Given the description of an element on the screen output the (x, y) to click on. 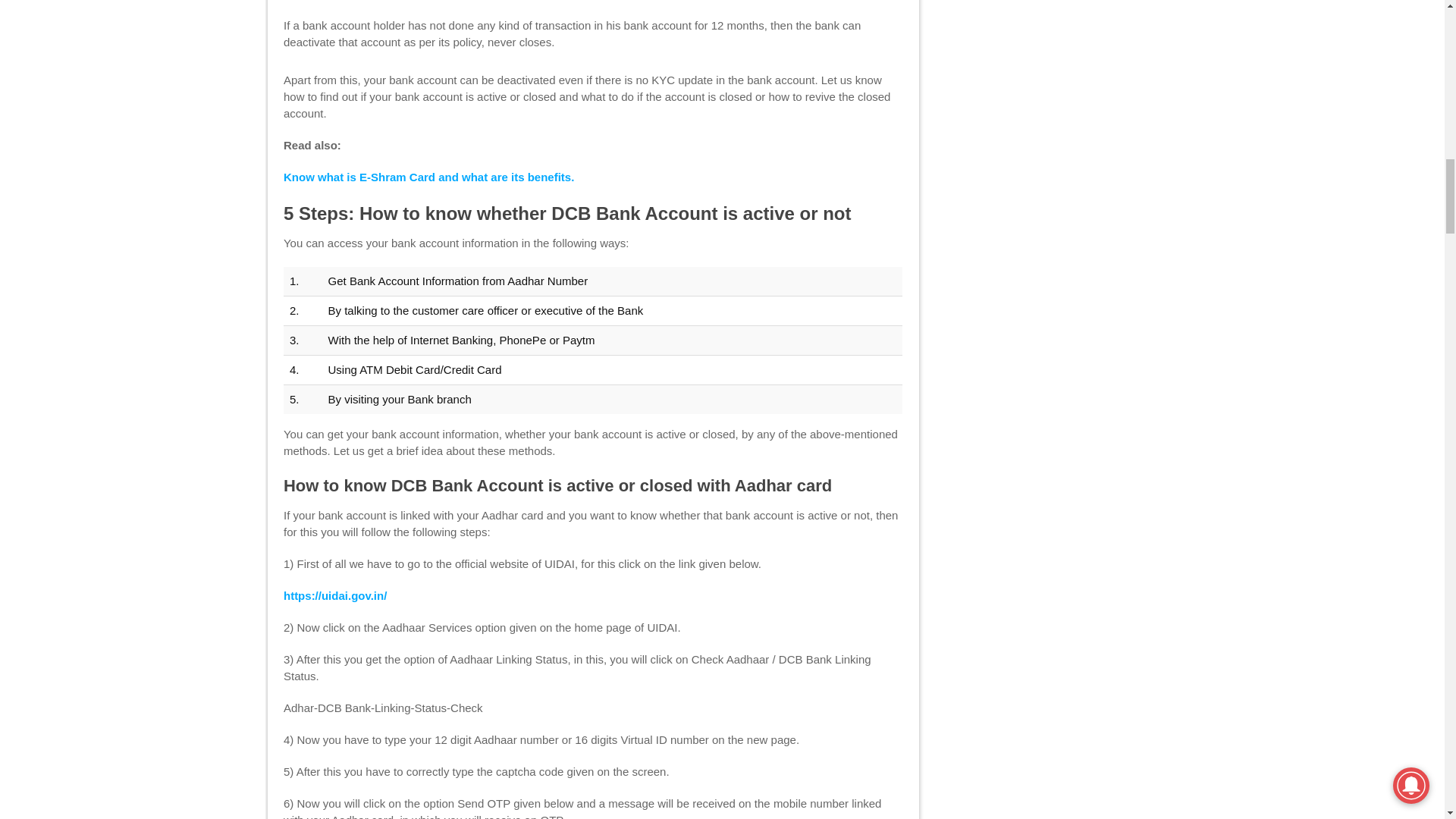
Know what is E-Shram Card and what are its benefits. (428, 176)
